Given the description of an element on the screen output the (x, y) to click on. 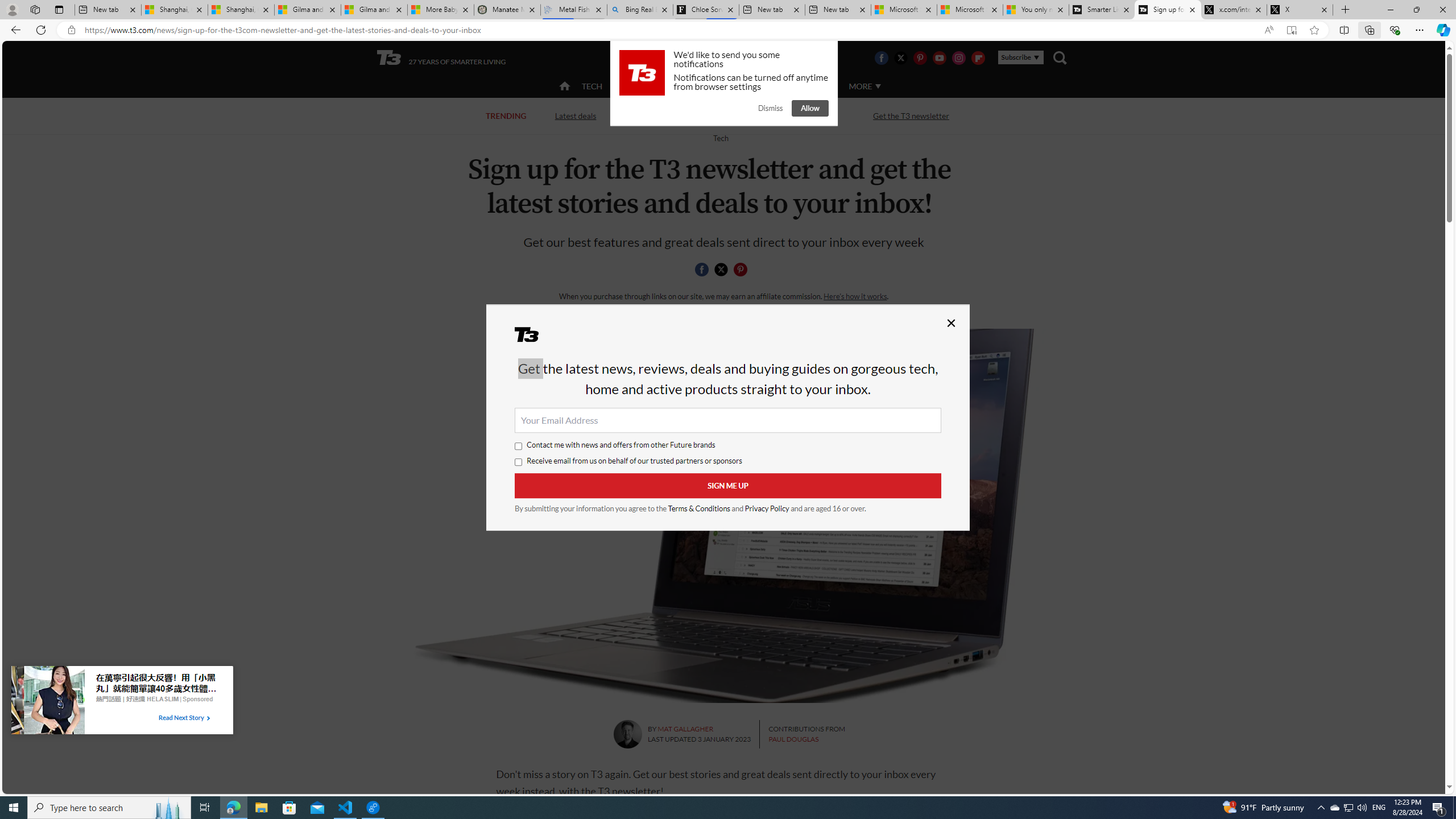
Streaming TV and movies (788, 115)
PAUL DOUGLAS (793, 738)
Class: tbl-arrow-icon arrow-2 (208, 717)
Mat Gallagher (627, 734)
HOME LIVING (701, 85)
ACTIVE (638, 86)
Allow (810, 107)
HOME LIVING (701, 86)
Dismiss (770, 107)
